Given the description of an element on the screen output the (x, y) to click on. 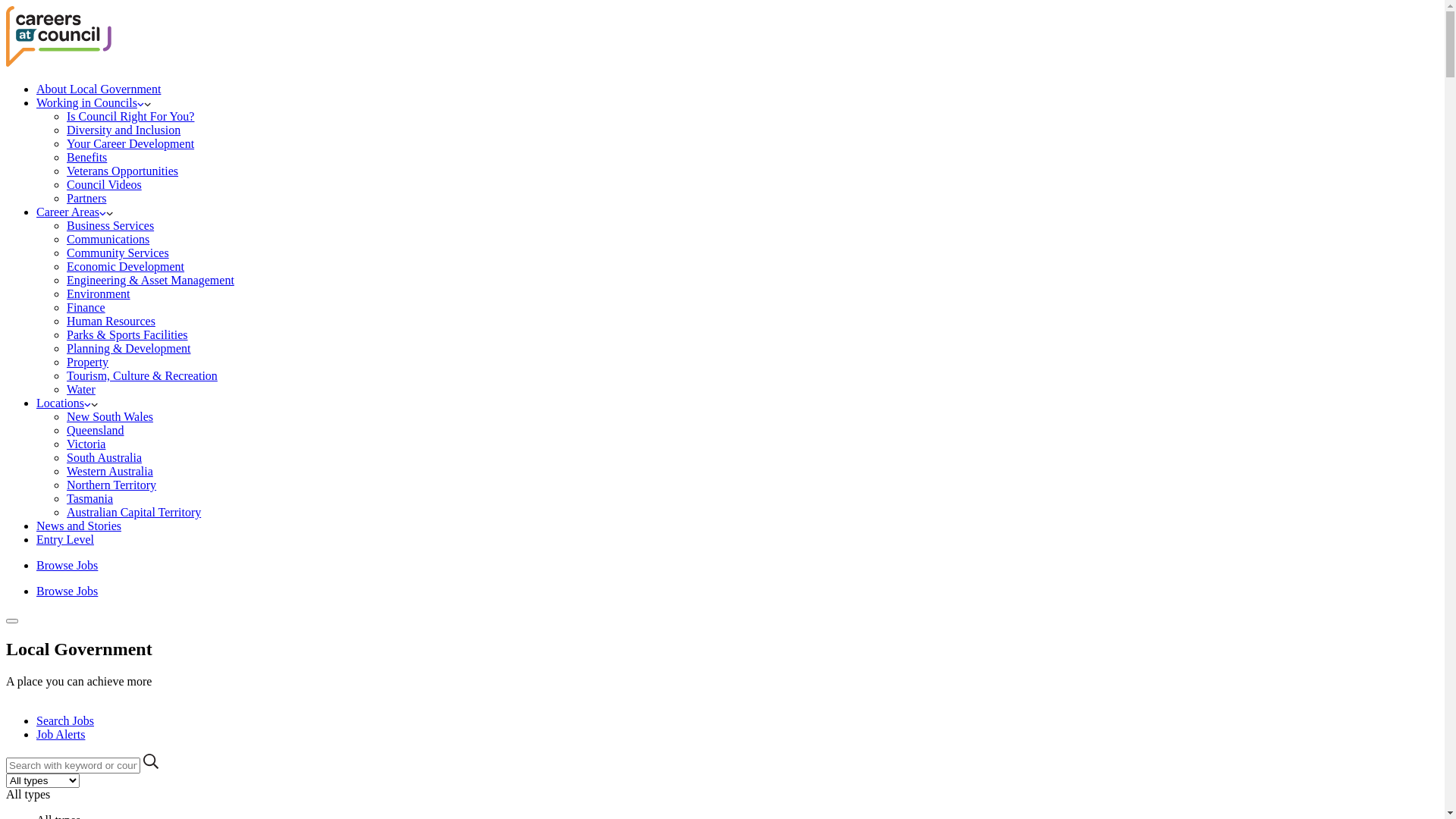
Australian Capital Territory Element type: text (133, 511)
Veterans Opportunities Element type: text (122, 170)
Parks & Sports Facilities Element type: text (127, 334)
Your Career Development Element type: text (130, 143)
Tourism, Culture & Recreation Element type: text (141, 375)
Community Services Element type: text (117, 252)
Locations Element type: text (63, 402)
Tasmania Element type: text (89, 498)
Business Services Element type: text (109, 225)
New South Wales Element type: text (109, 416)
Queensland Element type: text (95, 429)
South Australia Element type: text (103, 457)
Is Council Right For You? Element type: text (130, 115)
About Local Government Element type: text (98, 88)
Northern Territory Element type: text (111, 484)
Entry Level Element type: text (65, 539)
Human Resources Element type: text (110, 320)
Career Areas Element type: text (71, 211)
Search Jobs Element type: text (65, 720)
Finance Element type: text (85, 307)
Economic Development Element type: text (125, 266)
Engineering & Asset Management Element type: text (150, 279)
Environment Element type: text (98, 293)
Diversity and Inclusion Element type: text (123, 129)
Victoria Element type: text (85, 443)
Partners Element type: text (86, 197)
Property Element type: text (87, 361)
Browse Jobs Element type: text (66, 564)
News and Stories Element type: text (78, 525)
Browse Jobs Element type: text (66, 590)
Job Alerts Element type: text (60, 734)
Western Australia Element type: text (109, 470)
Working in Councils Element type: text (90, 102)
Benefits Element type: text (86, 156)
Planning & Development Element type: text (128, 348)
Council Videos Element type: text (103, 184)
Communications Element type: text (107, 238)
Water Element type: text (80, 388)
